Given the description of an element on the screen output the (x, y) to click on. 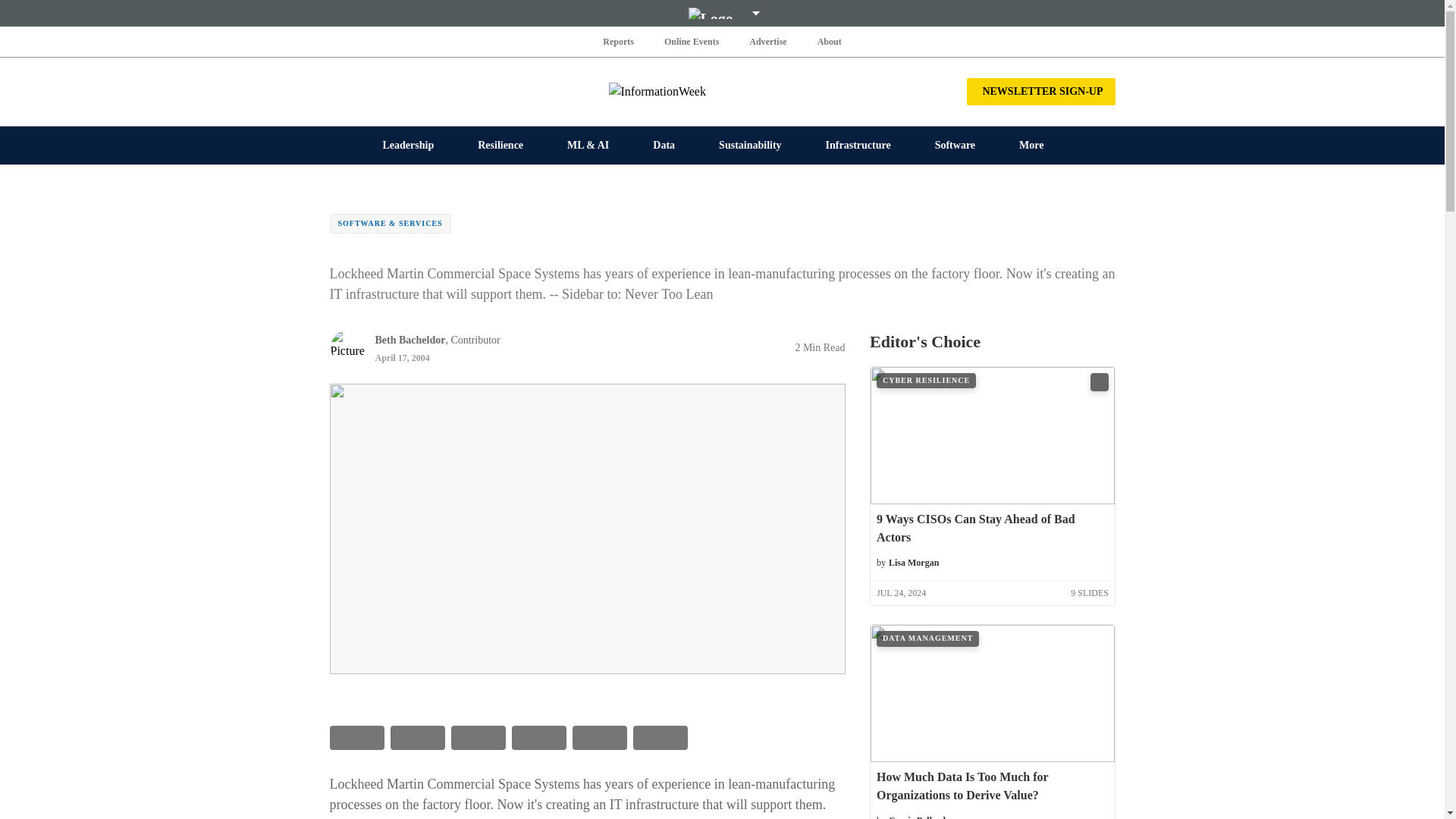
InformationWeek (721, 91)
NEWSLETTER SIGN-UP (1040, 90)
Online Events (691, 41)
Reports (618, 41)
About (828, 41)
Advertise (767, 41)
